Given the description of an element on the screen output the (x, y) to click on. 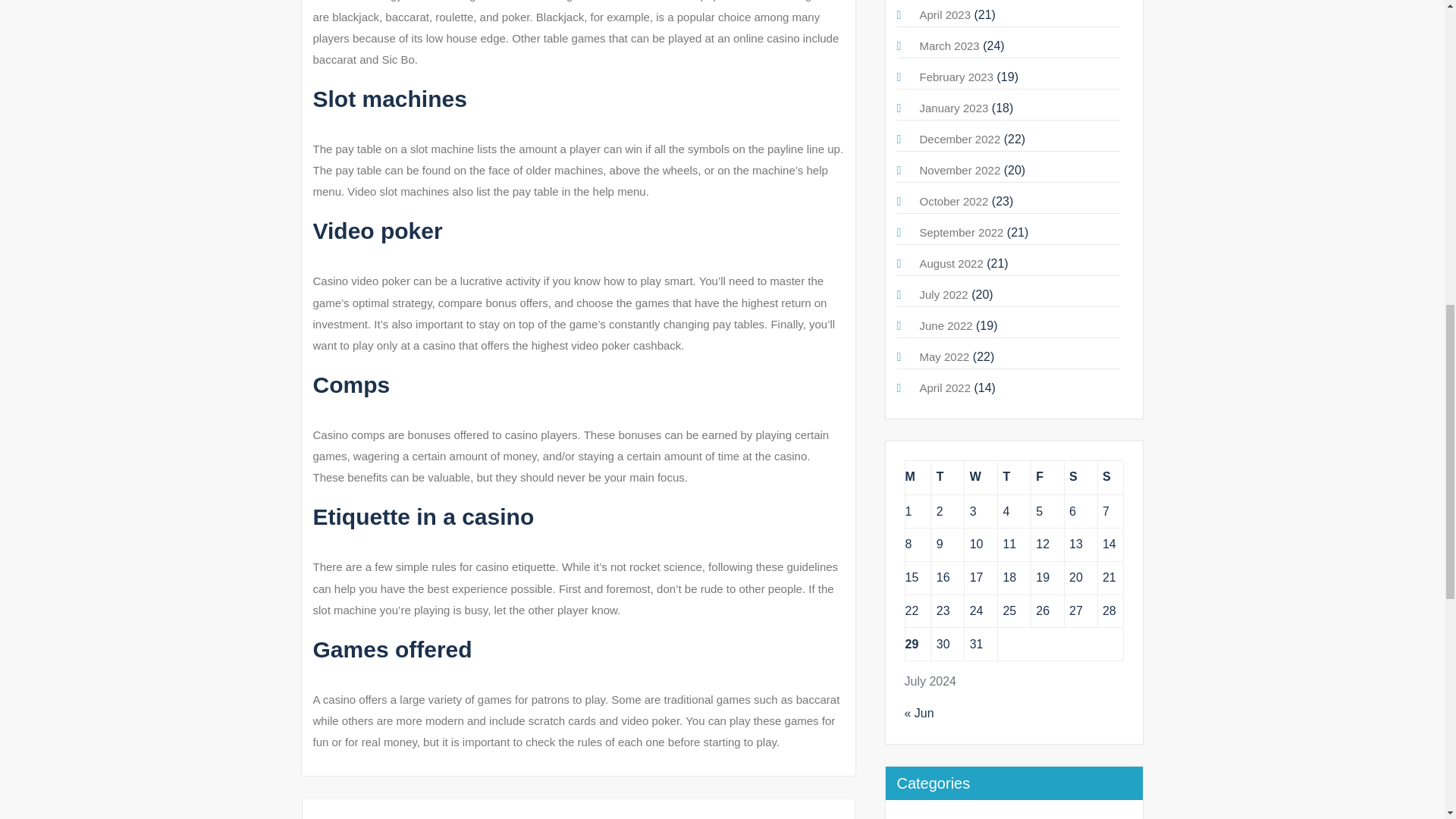
September 2022 (960, 232)
April 2022 (944, 387)
May 2022 (943, 356)
March 2023 (948, 45)
January 2023 (953, 107)
February 2023 (955, 76)
April 2023 (944, 14)
July 2022 (943, 294)
June 2022 (945, 325)
December 2022 (959, 138)
Thursday (1013, 477)
August 2022 (950, 263)
November 2022 (959, 169)
Saturday (1080, 477)
Tuesday (947, 477)
